Given the description of an element on the screen output the (x, y) to click on. 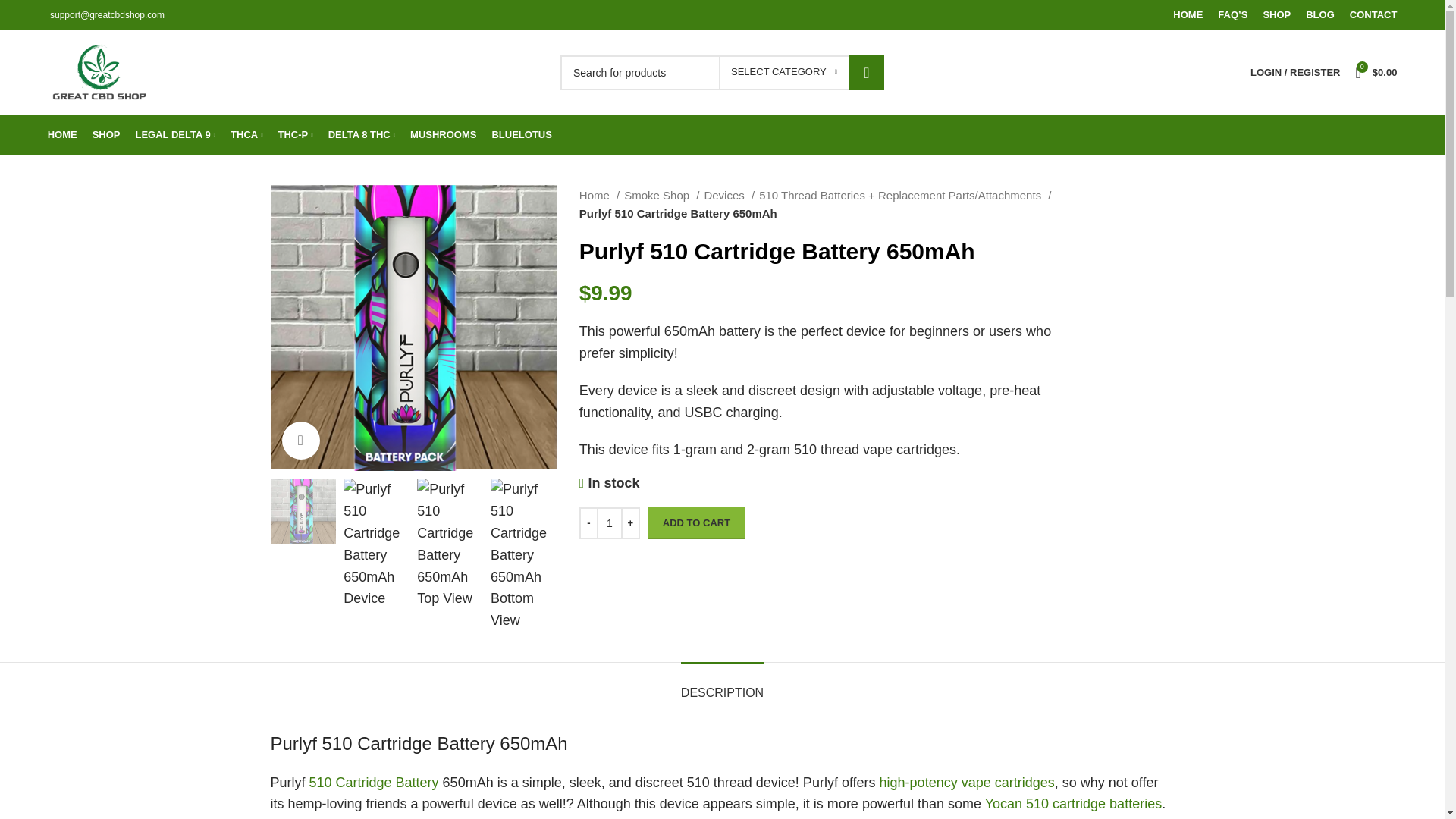
BLOG (1320, 15)
CONTACT (1373, 15)
My account (1295, 72)
HOME (1187, 15)
Search for products (721, 71)
SHOP (1276, 15)
Purlyf 510 Cartridge Battery 650mAh (412, 327)
Shopping cart (1376, 72)
SELECT CATEGORY (783, 71)
SELECT CATEGORY (783, 71)
